Given the description of an element on the screen output the (x, y) to click on. 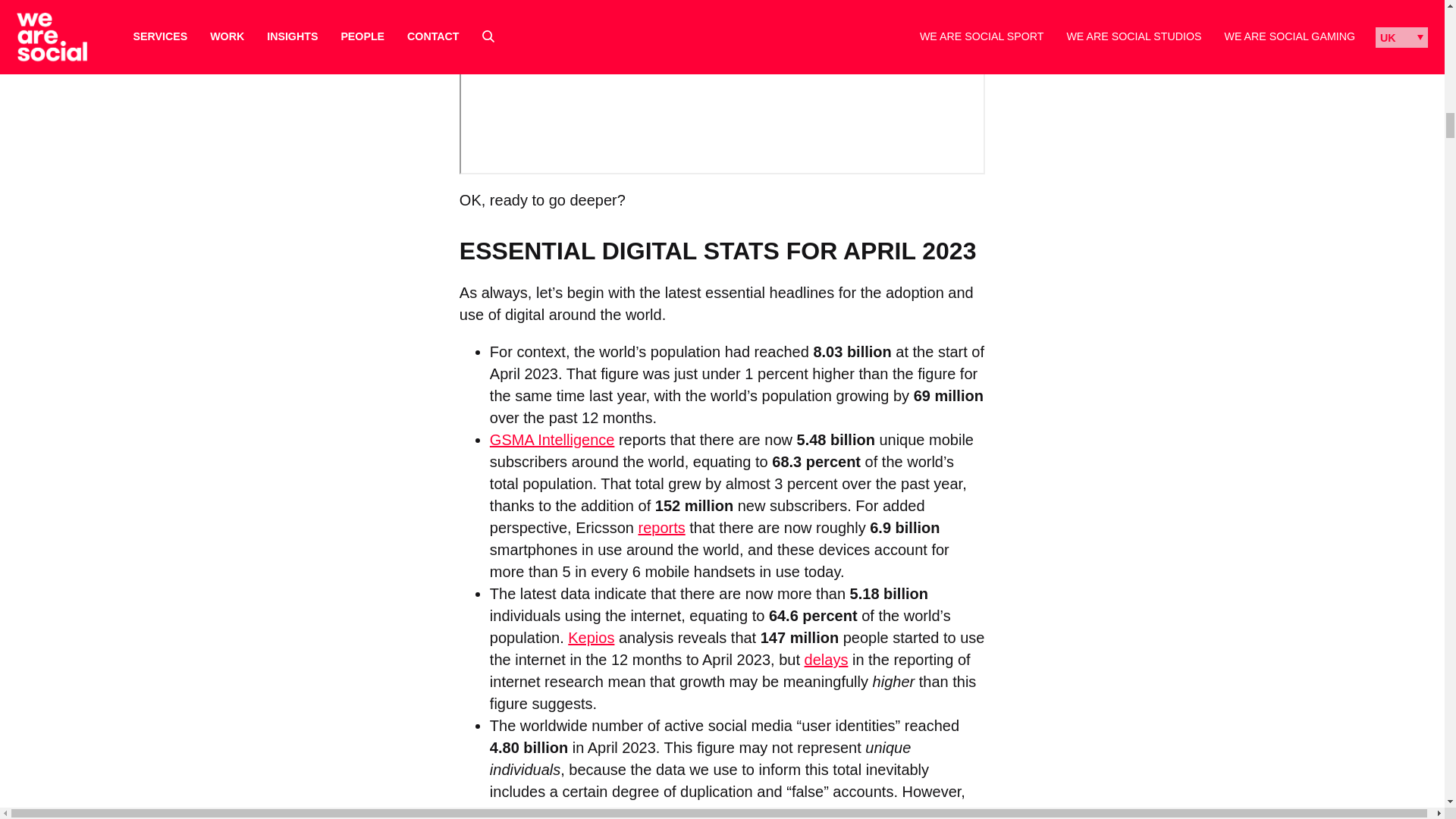
reports (660, 527)
Kepios (590, 637)
delays (826, 659)
GSMA Intelligence (551, 439)
